Given the description of an element on the screen output the (x, y) to click on. 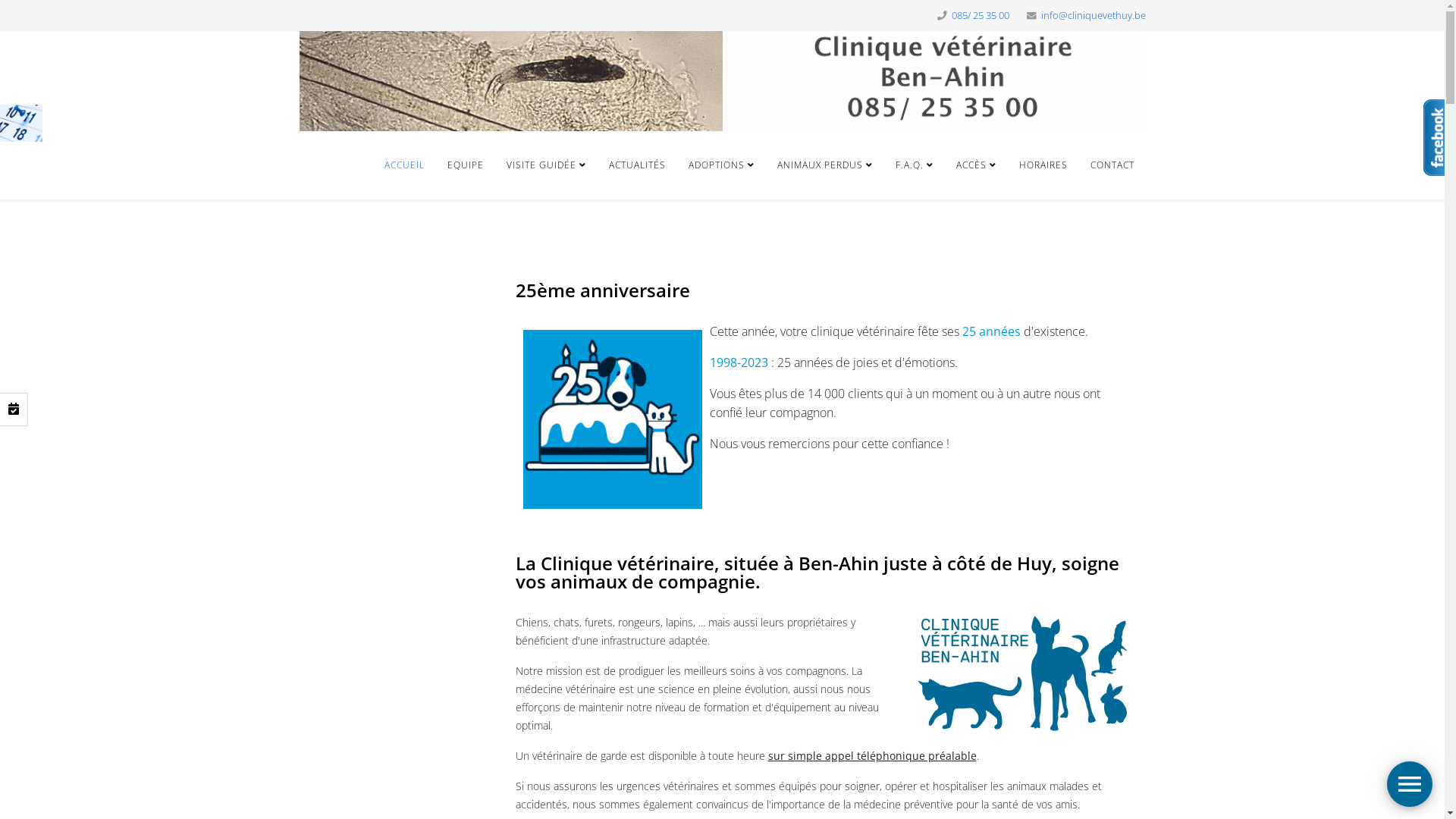
ACCUEIL Element type: text (404, 165)
ADOPTIONS Element type: text (720, 165)
085/ 25 35 00 Element type: text (979, 15)
F.A.Q. Element type: text (914, 165)
CONTACT Element type: text (1111, 165)
ANIMAUX PERDUS Element type: text (824, 165)
HORAIRES Element type: text (1042, 165)
EQUIPE Element type: text (464, 165)
